Given the description of an element on the screen output the (x, y) to click on. 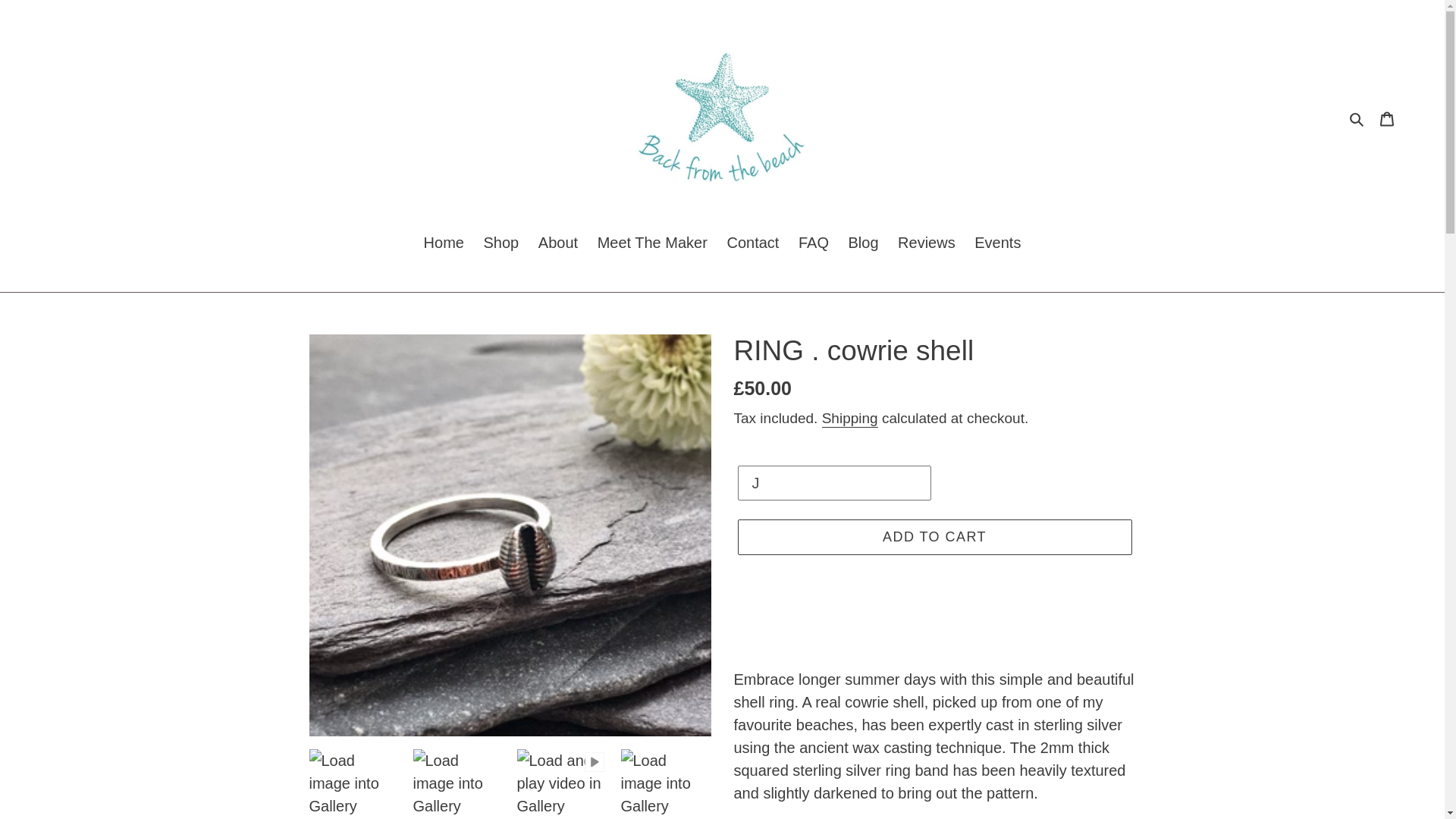
About (558, 243)
Shop (501, 243)
Meet The Maker (651, 243)
Contact (752, 243)
Blog (863, 243)
Home (443, 243)
Shipping (849, 417)
Events (996, 243)
ADD TO CART (933, 537)
Reviews (925, 243)
